Given the description of an element on the screen output the (x, y) to click on. 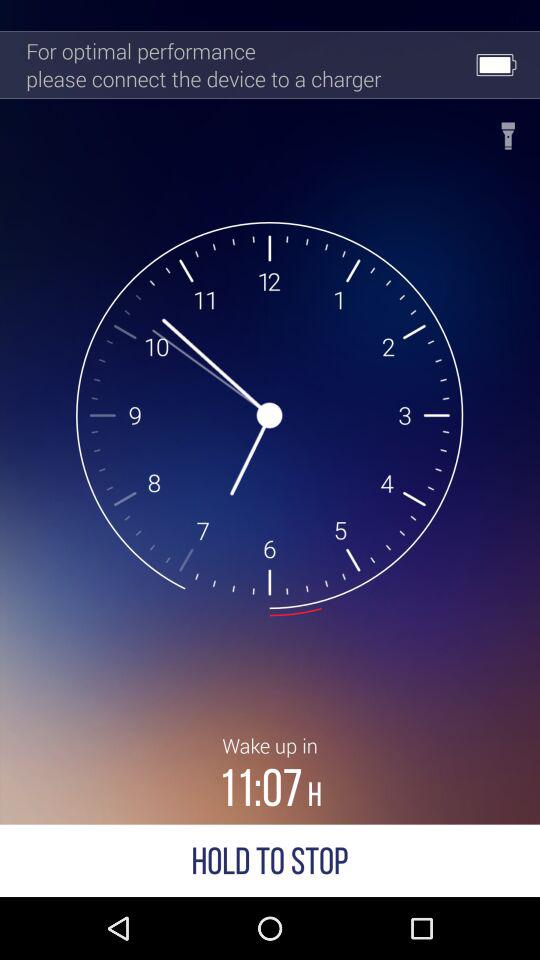
choose the item next to for optimal performance item (508, 129)
